Given the description of an element on the screen output the (x, y) to click on. 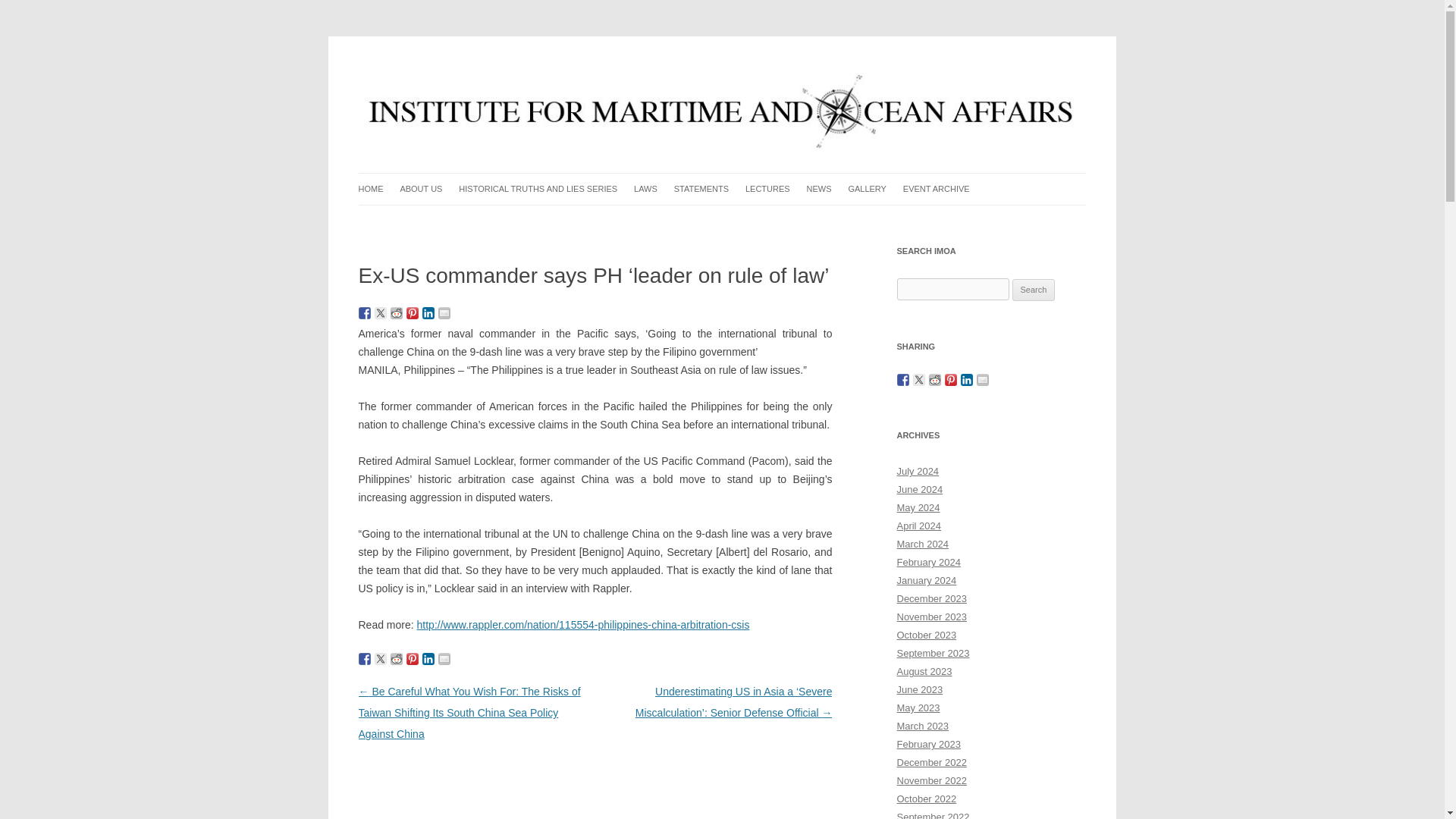
Share on Linkedin (427, 313)
Institute for Maritime and Ocean Affairs (542, 72)
Pin it with Pinterest (412, 313)
Skip to content (757, 177)
Share on Facebook (363, 313)
Skip to content (757, 177)
Share on Twitter (380, 313)
ABOUT US (420, 188)
RELEVANT PHILIPPINE LAWS (709, 219)
Share on Reddit (395, 313)
HISTORICAL TRUTHS AND LIES SERIES (537, 188)
Relevant Philippine Laws (709, 219)
Search (1033, 290)
Institute for Maritime and Ocean Affairs (542, 72)
